Given the description of an element on the screen output the (x, y) to click on. 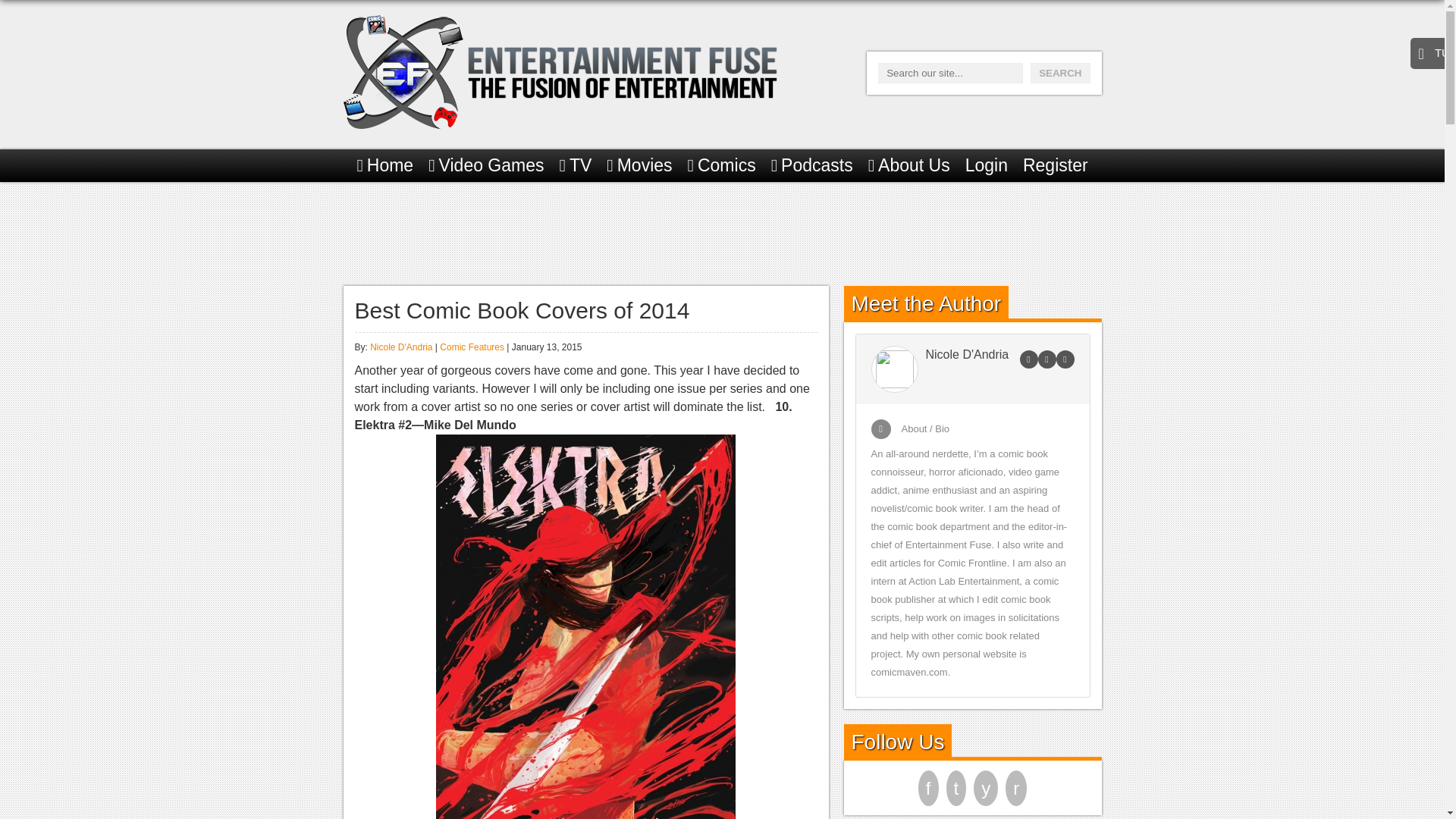
Video Games (485, 165)
Home (384, 165)
Search (1059, 73)
Search (1059, 73)
Posts by Nicole D'Andria (400, 347)
TV (575, 165)
Movies (639, 165)
Advertisement (721, 231)
Comics (721, 165)
